Given the description of an element on the screen output the (x, y) to click on. 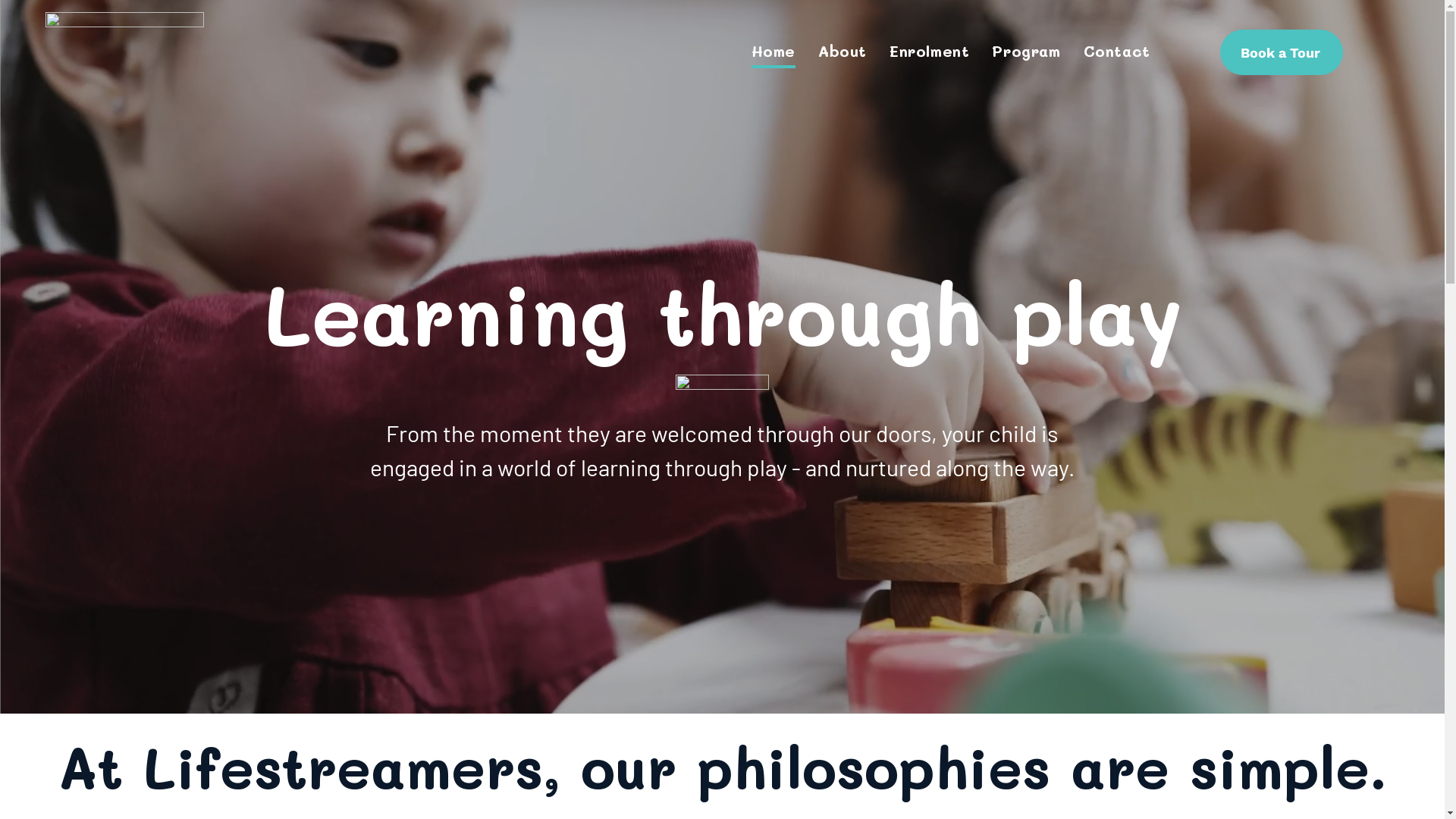
Contact Element type: text (1116, 51)
Book a Tour Element type: text (1281, 52)
Enrolment Element type: text (929, 51)
Program Element type: text (1025, 51)
About Element type: text (842, 51)
Home Element type: text (773, 51)
